Given the description of an element on the screen output the (x, y) to click on. 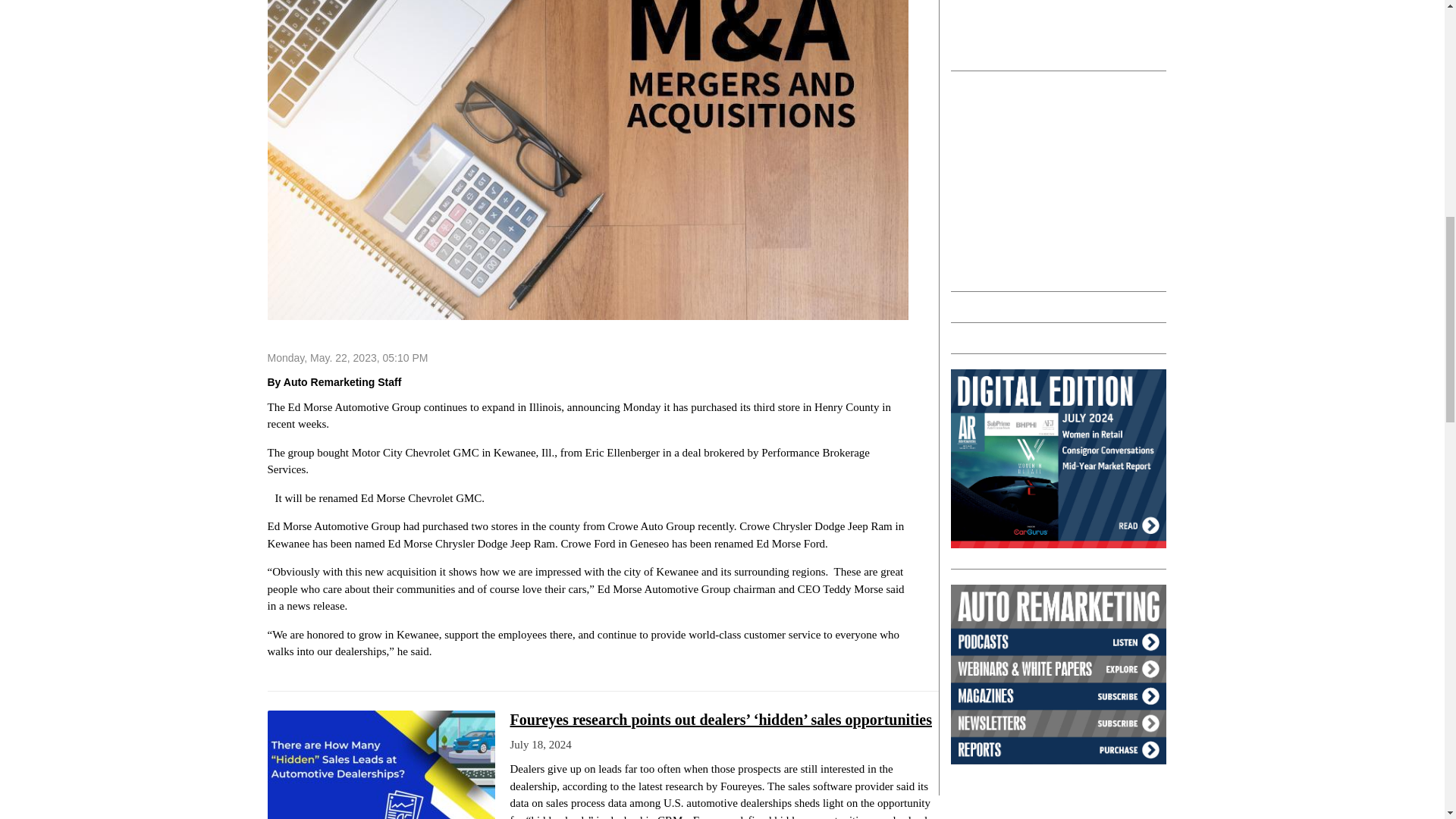
3rd party ad content (1063, 27)
3rd party ad content (1063, 181)
